Given the description of an element on the screen output the (x, y) to click on. 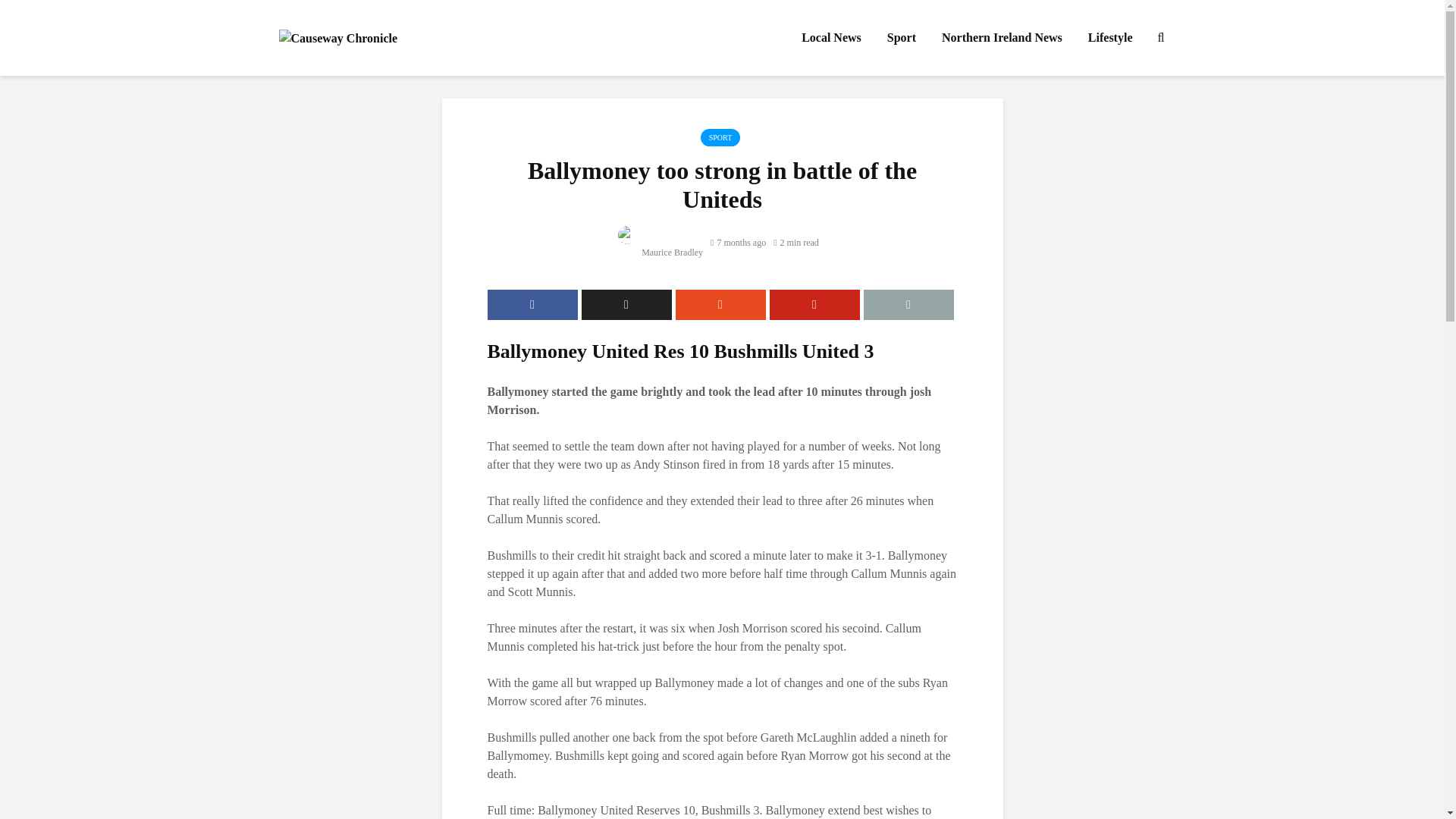
SPORT (720, 137)
Northern Ireland News (1002, 37)
Maurice Bradley (660, 252)
Sport (901, 37)
Lifestyle (1110, 37)
Local News (831, 37)
